Given the description of an element on the screen output the (x, y) to click on. 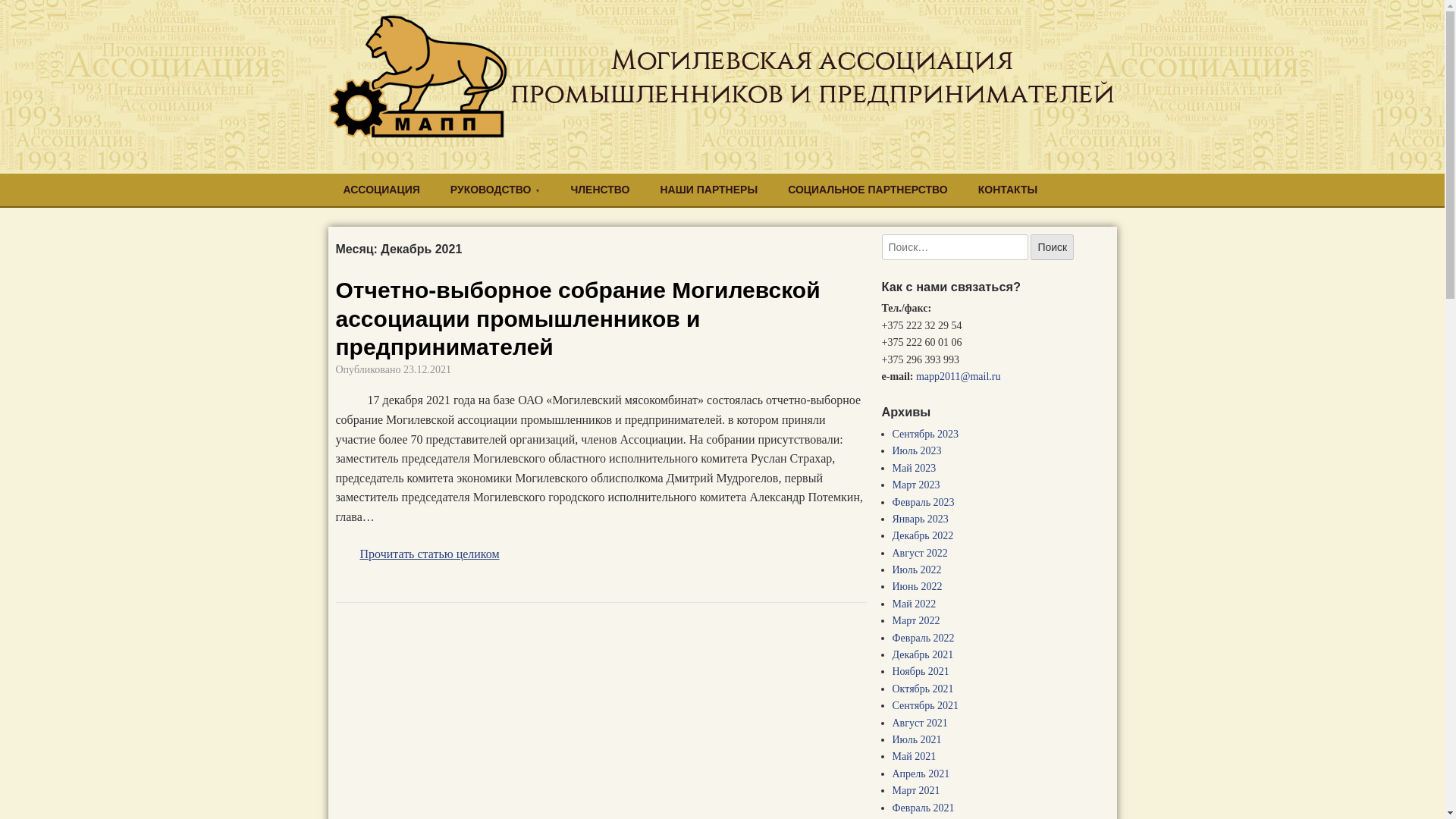
mapp2011@mail.ru Element type: text (958, 376)
23.12.2021 Element type: text (427, 369)
